Given the description of an element on the screen output the (x, y) to click on. 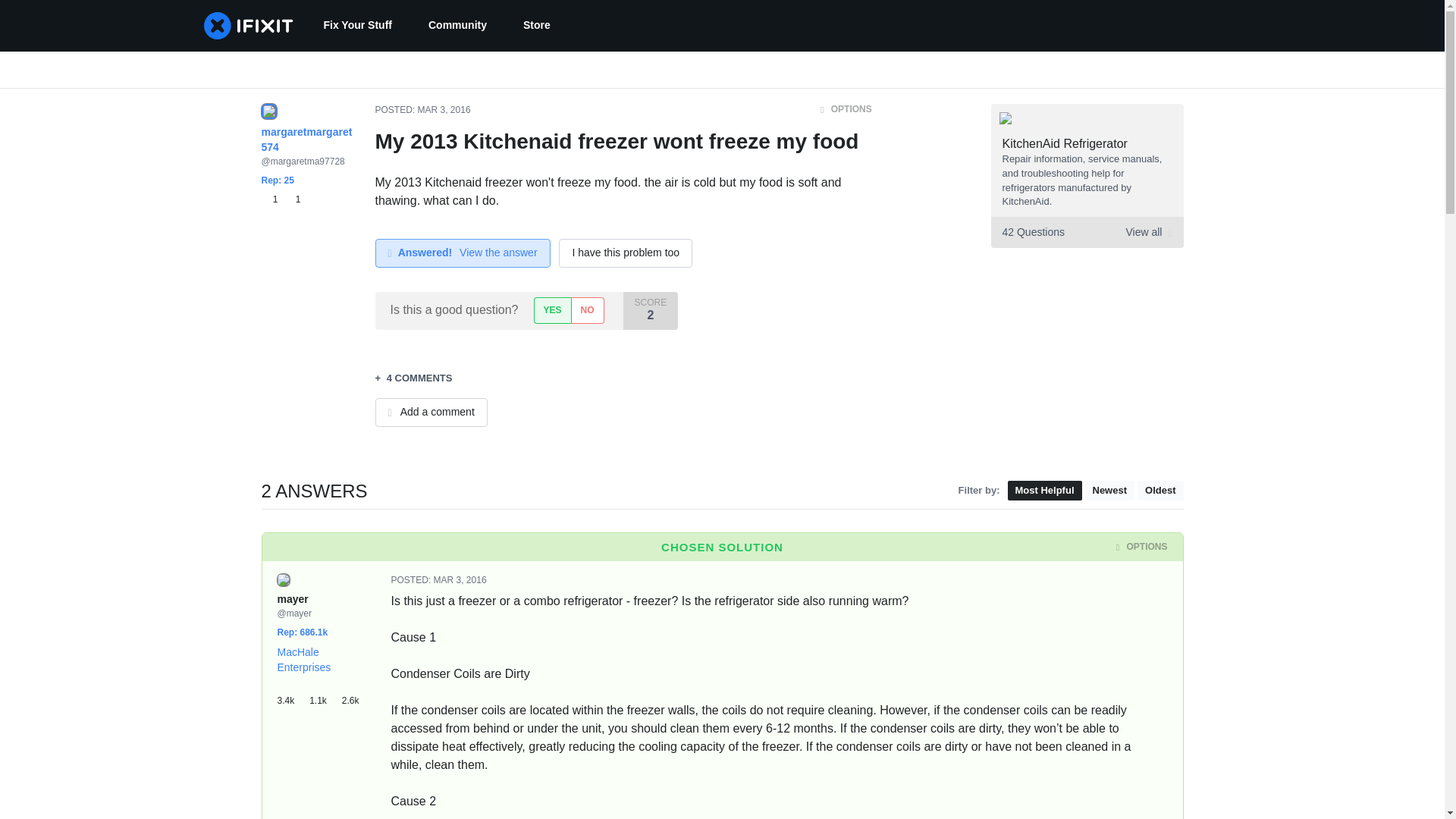
Most Helpful (1044, 490)
Oldest (1159, 490)
MacHale Enterprises (304, 659)
1 1 (279, 199)
1 Bronze badges (271, 199)
3.4k 1.1k 2.6k (323, 694)
2638 Gold badges (355, 694)
3484 Bronze badges (294, 694)
NO (587, 310)
YES (552, 310)
Thu, 03 Mar 2016 09:35:05 -0700 (443, 109)
Community (457, 25)
Answered! View the answer (462, 253)
1130 Silver badges (325, 694)
KitchenAid Refrigerator (1064, 143)
